Given the description of an element on the screen output the (x, y) to click on. 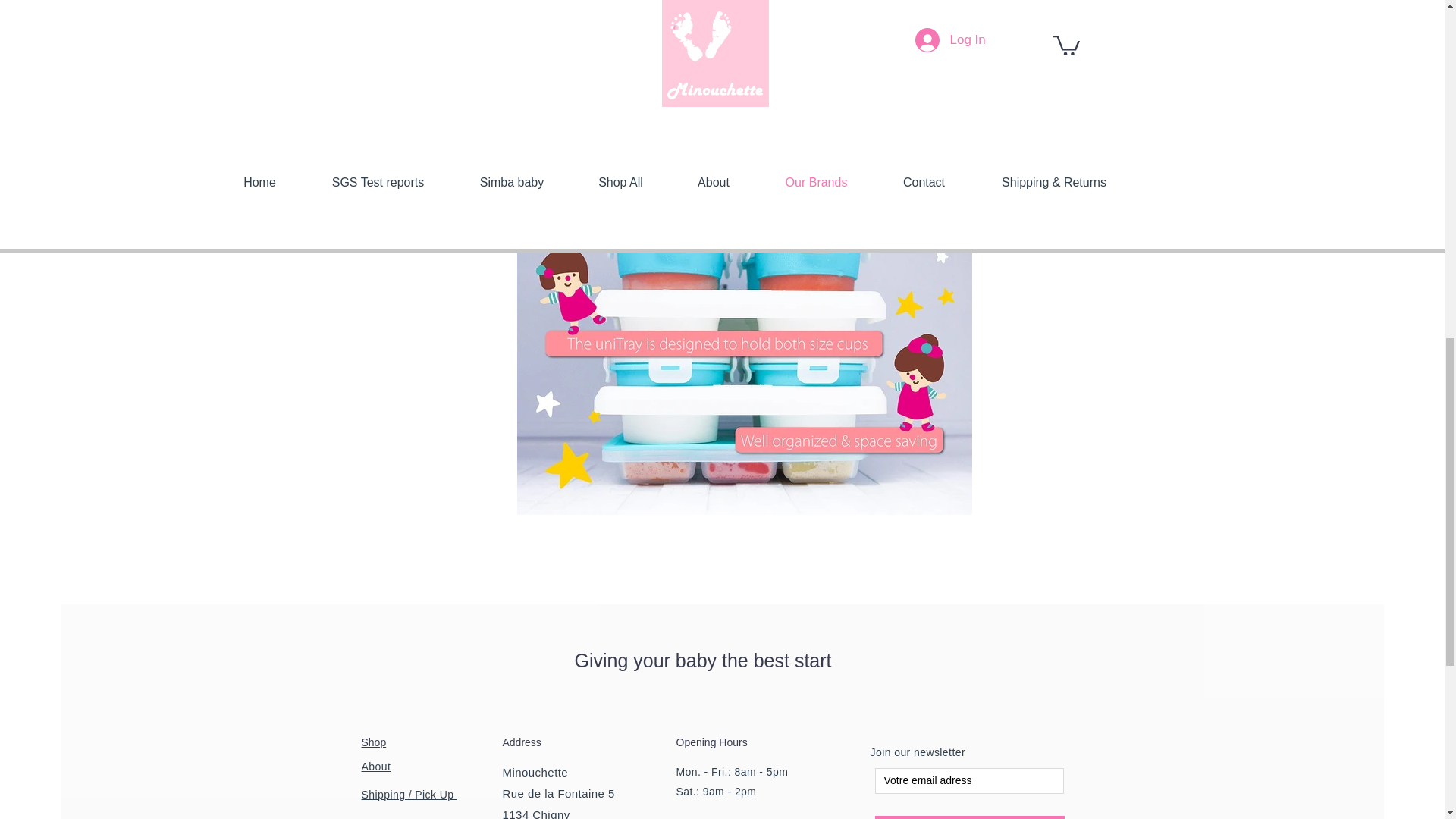
Subscribe Now (969, 817)
About (375, 766)
Shop (373, 742)
